Given the description of an element on the screen output the (x, y) to click on. 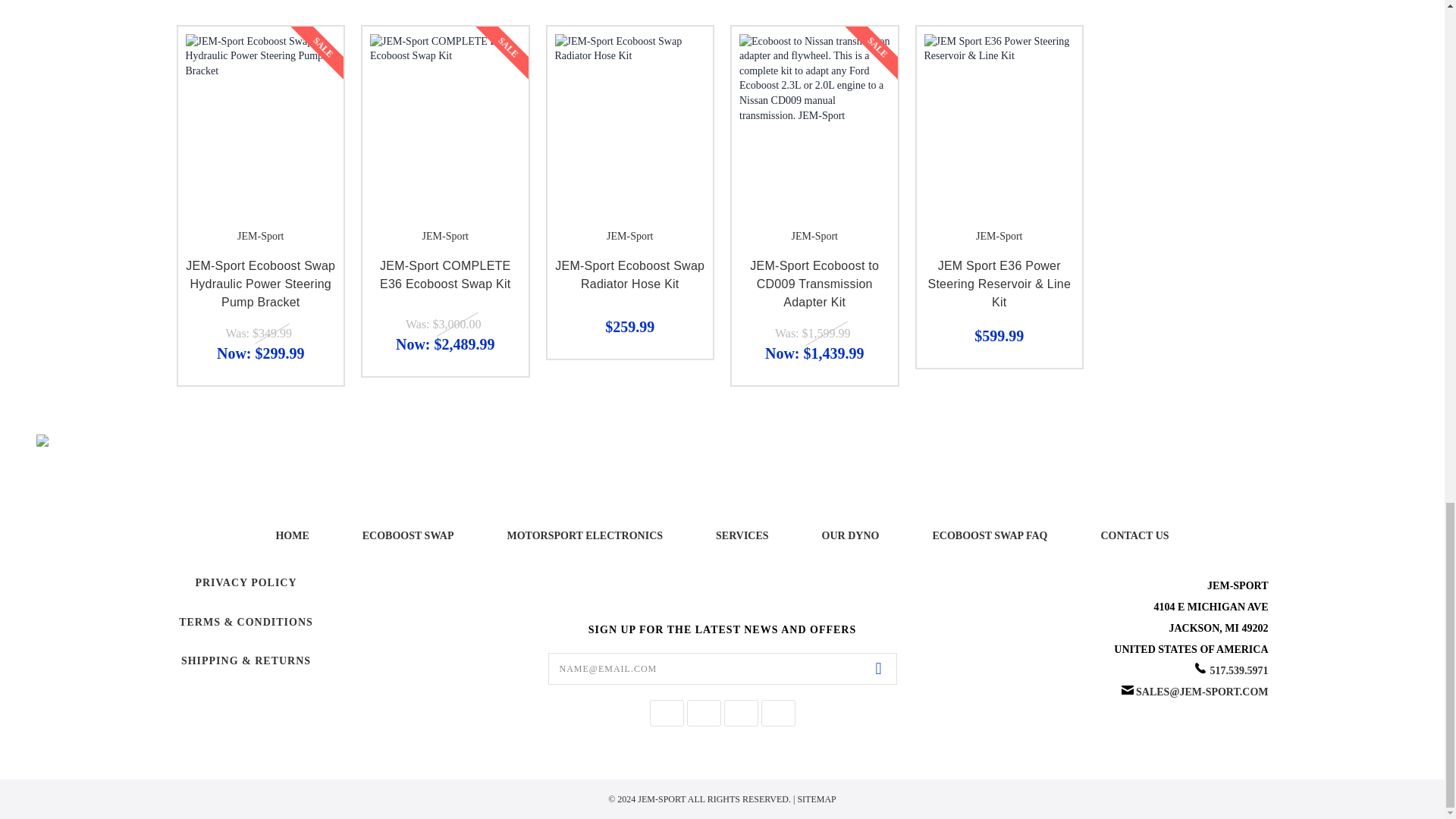
JEM-Sport COMPLETE E36 Ecoboost Swap Kit (445, 109)
